Given the description of an element on the screen output the (x, y) to click on. 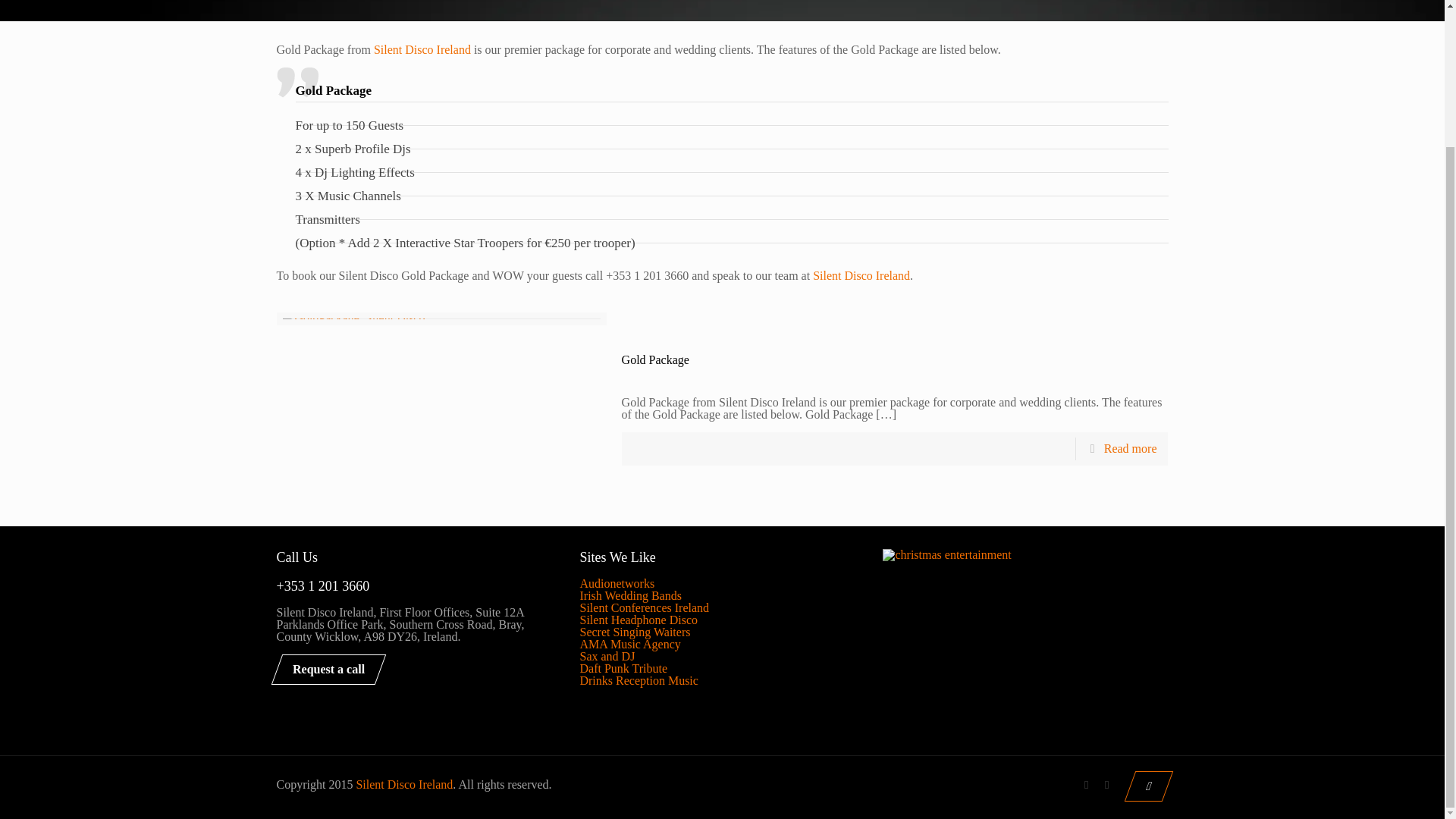
Silent Disco Ireland (422, 49)
Star Troopers (487, 242)
Drinks Reception Music (638, 680)
YouTube (1107, 784)
Silent Headphone Disco (638, 619)
Secret Singing Waiters (634, 631)
Silent Conferences Ireland (644, 607)
AMA Music Agency (629, 644)
Daft Punk Tribute (622, 667)
Silent Disco Ireland (861, 275)
Gold Package 2 (353, 324)
Audionetworks (616, 583)
Facebook (1086, 784)
Read more (1130, 448)
Irish Wedding Bands (630, 594)
